Given the description of an element on the screen output the (x, y) to click on. 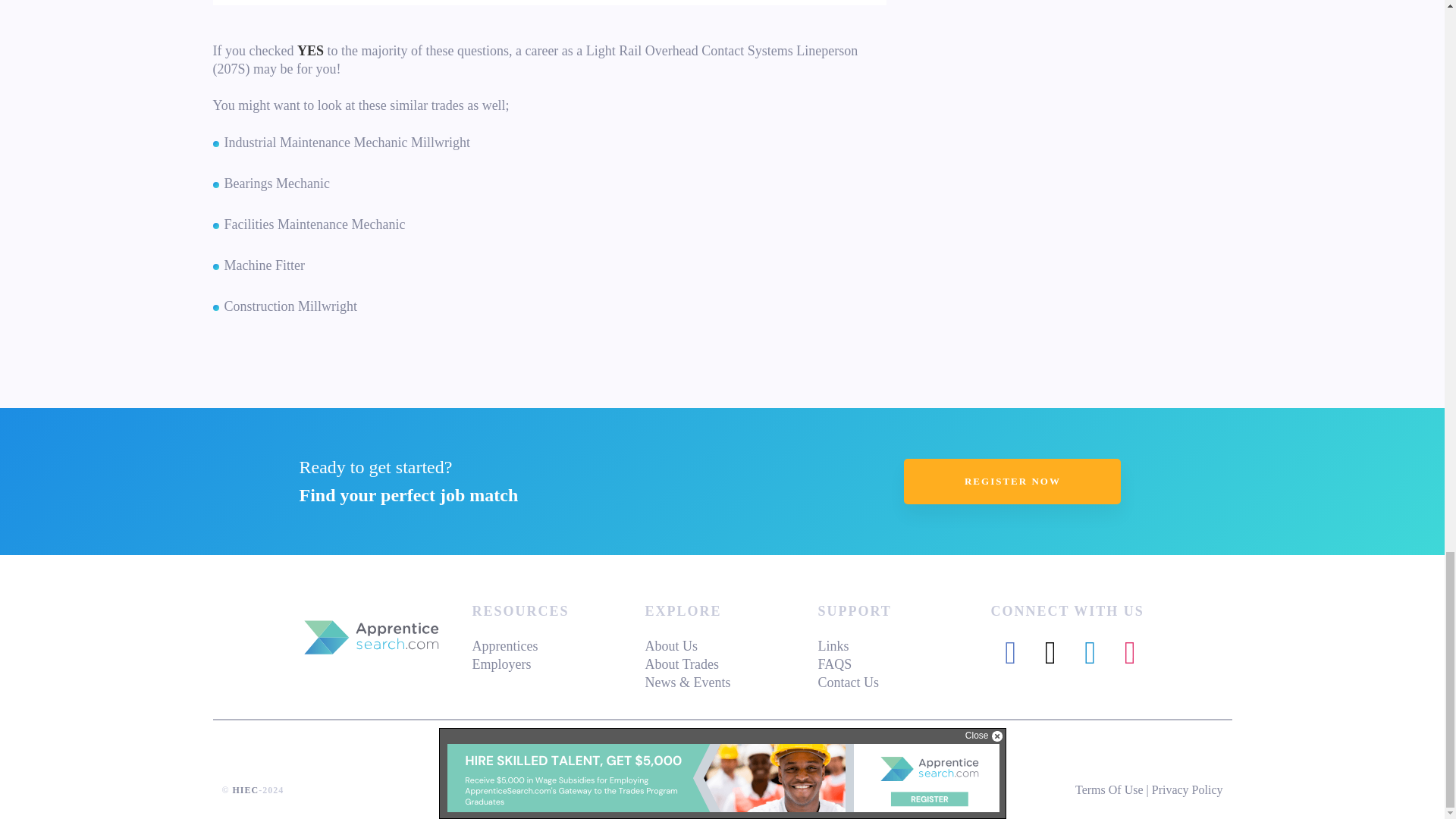
FAQS (833, 663)
Links (832, 645)
Apprentices (504, 645)
About Trades (682, 663)
About Us (671, 645)
Employers (501, 663)
REGISTER NOW (1012, 481)
